Given the description of an element on the screen output the (x, y) to click on. 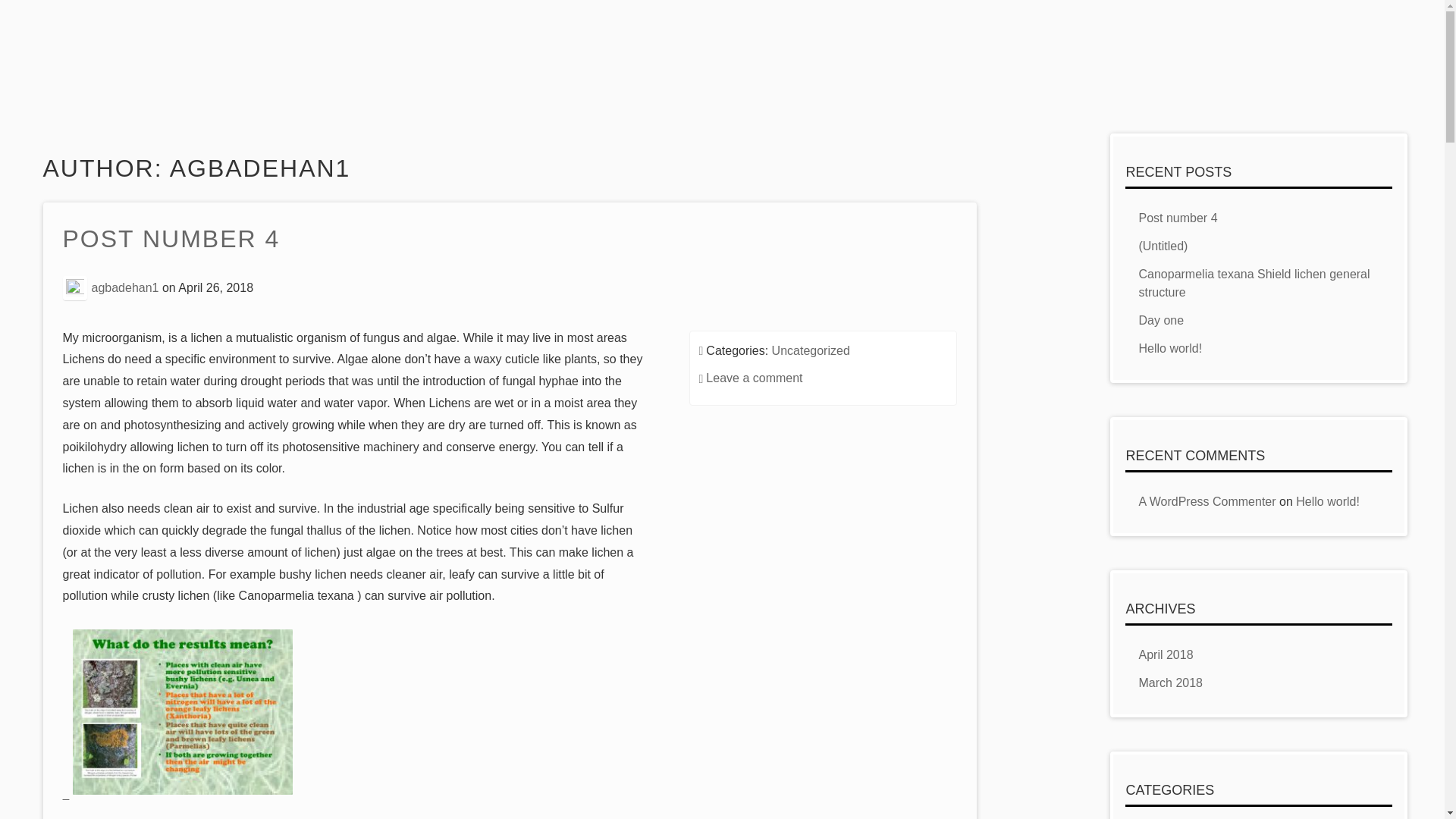
POST NUMBER 4 (171, 240)
agbadehan1 (124, 286)
Uncategorized (810, 350)
Leave a comment (754, 377)
Post number 4 (1177, 217)
